Given the description of an element on the screen output the (x, y) to click on. 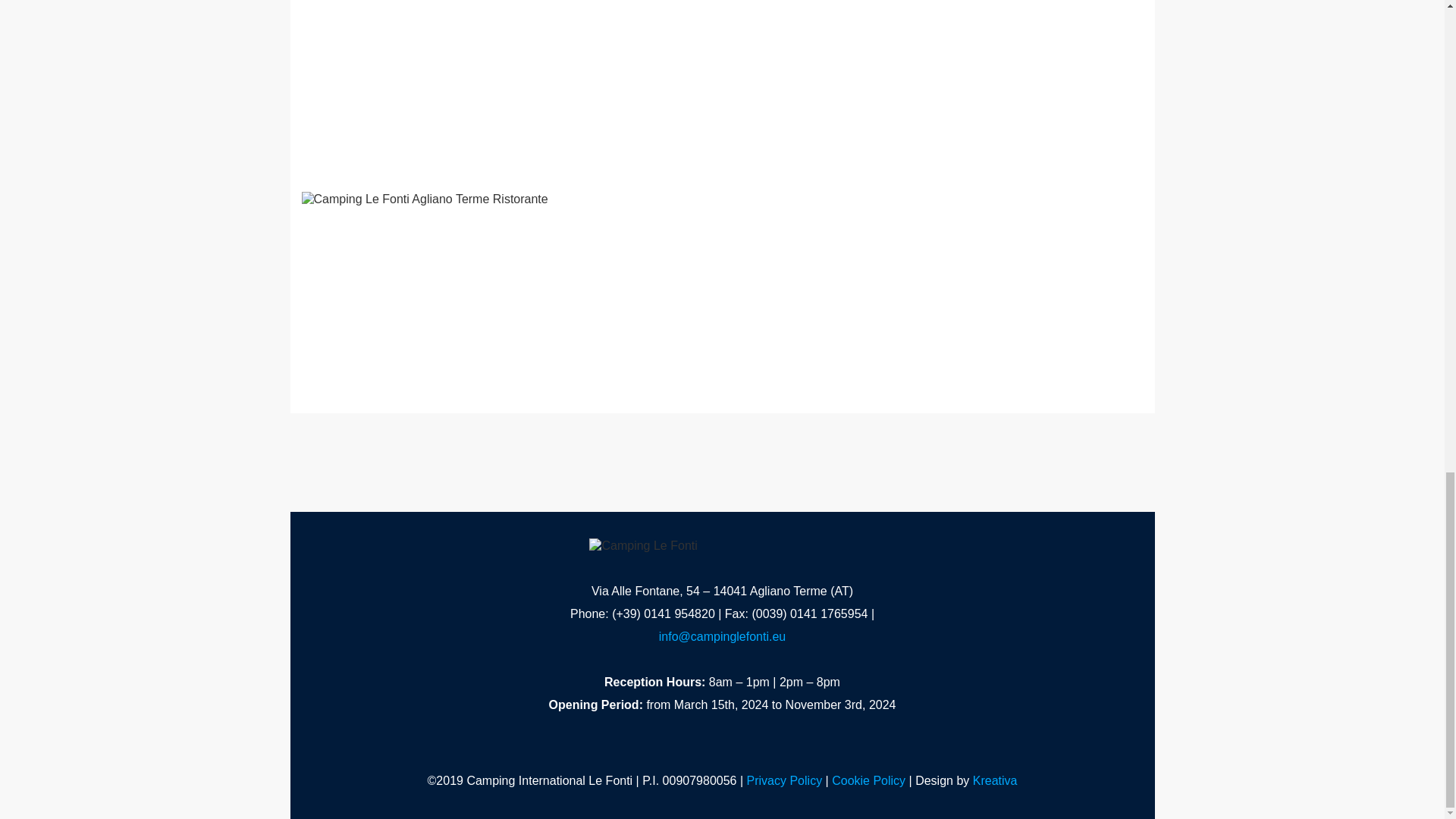
Camping Le Fonti Agliano Terme Ristorante (721, 84)
Camping Le Fonti Agliano Terme Ristorante (434, 290)
Camping Le Fonti Agliano Terme Ristorante (1009, 84)
Camping Le Fonti Agliano Terme Ristorante (434, 84)
